Given the description of an element on the screen output the (x, y) to click on. 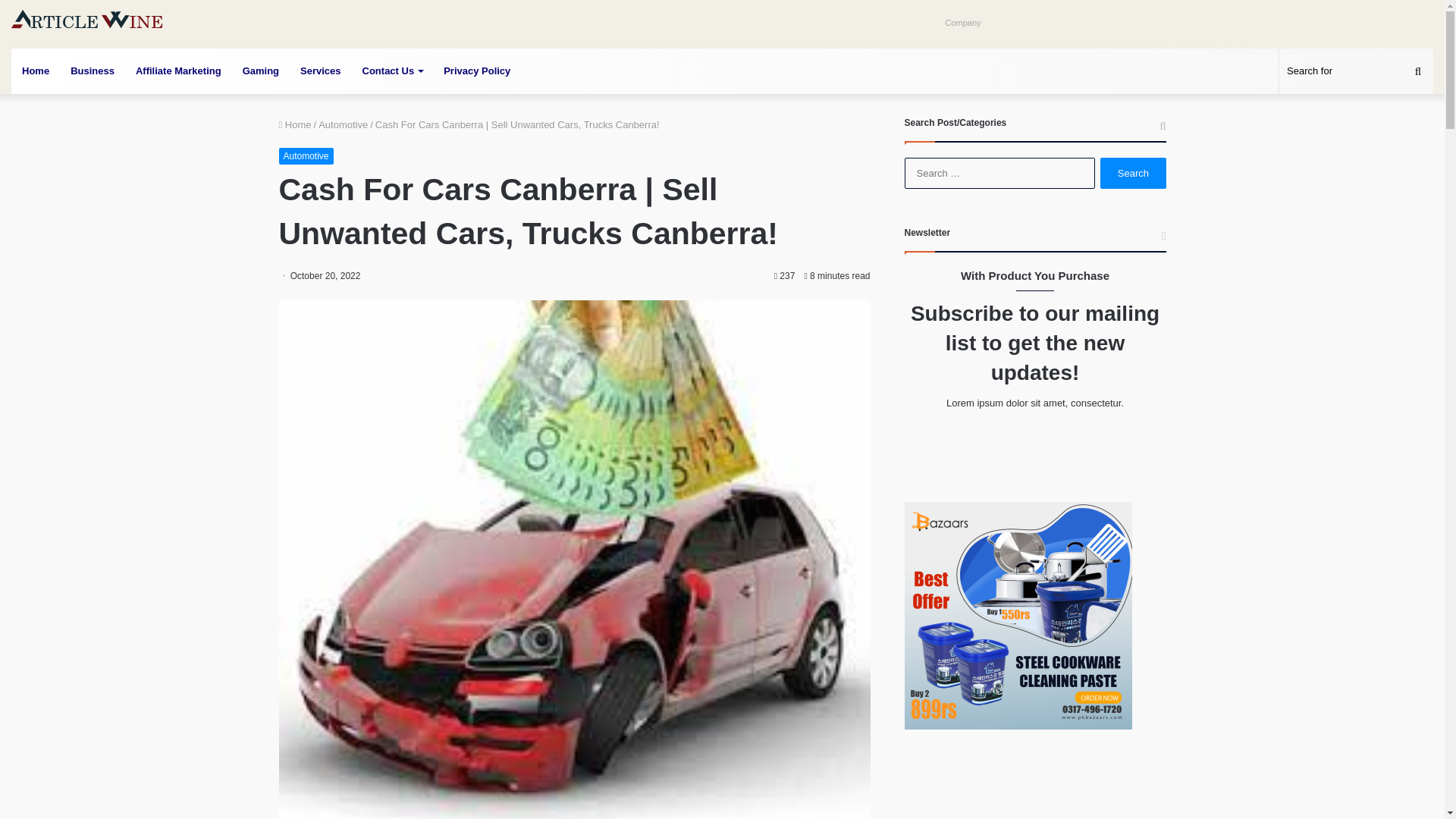
Gaming (260, 71)
Services (320, 71)
Search (1133, 173)
Home (35, 71)
Search (1133, 173)
Automotive (343, 124)
Privacy Policy (476, 71)
Contact Us (392, 71)
Affiliate Marketing (178, 71)
Home (295, 124)
Automotive (306, 156)
Business (92, 71)
Search for (1355, 71)
